Given the description of an element on the screen output the (x, y) to click on. 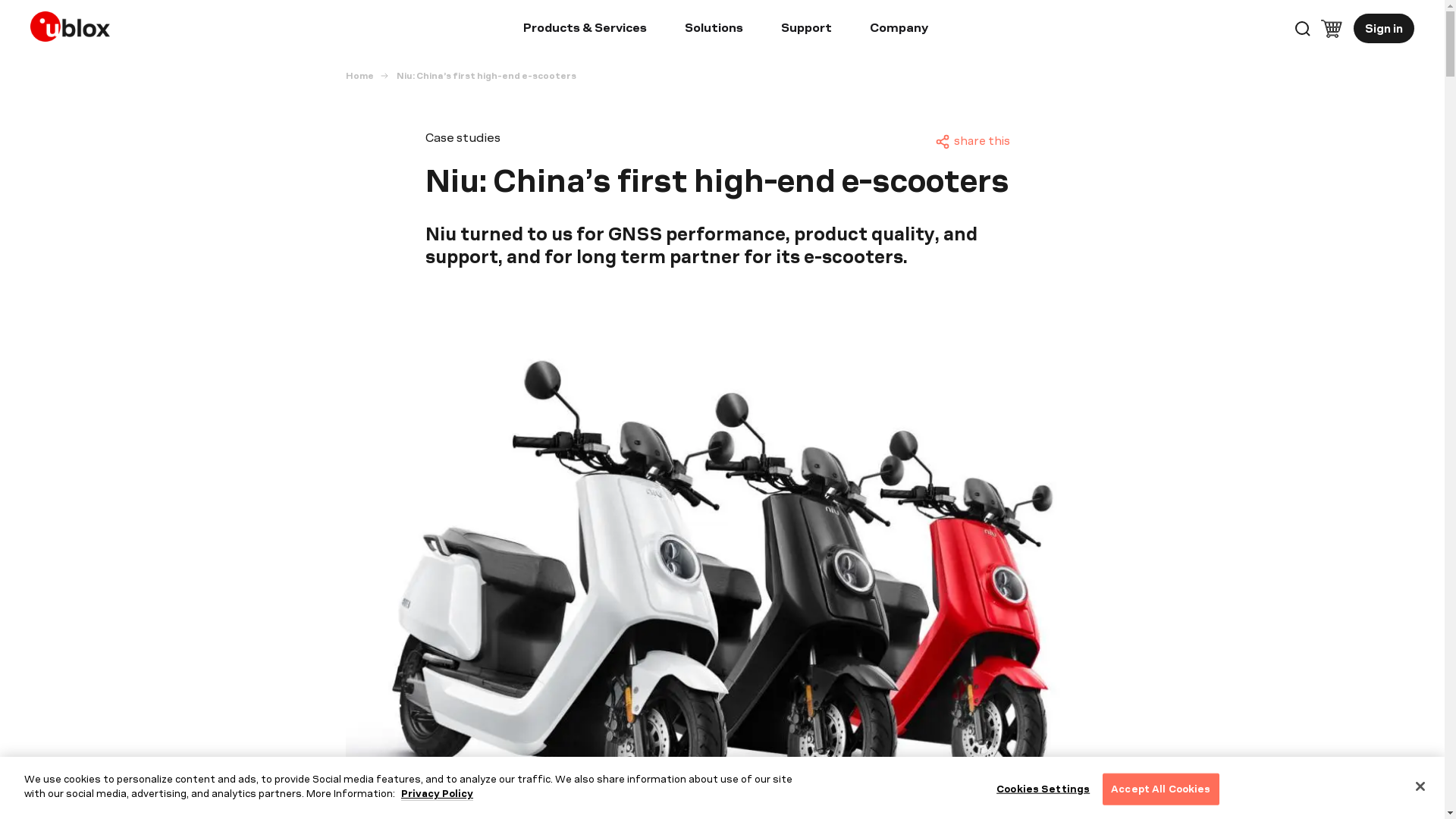
Company (898, 29)
Support (805, 29)
Solutions (713, 29)
u-blox (73, 22)
